Given the description of an element on the screen output the (x, y) to click on. 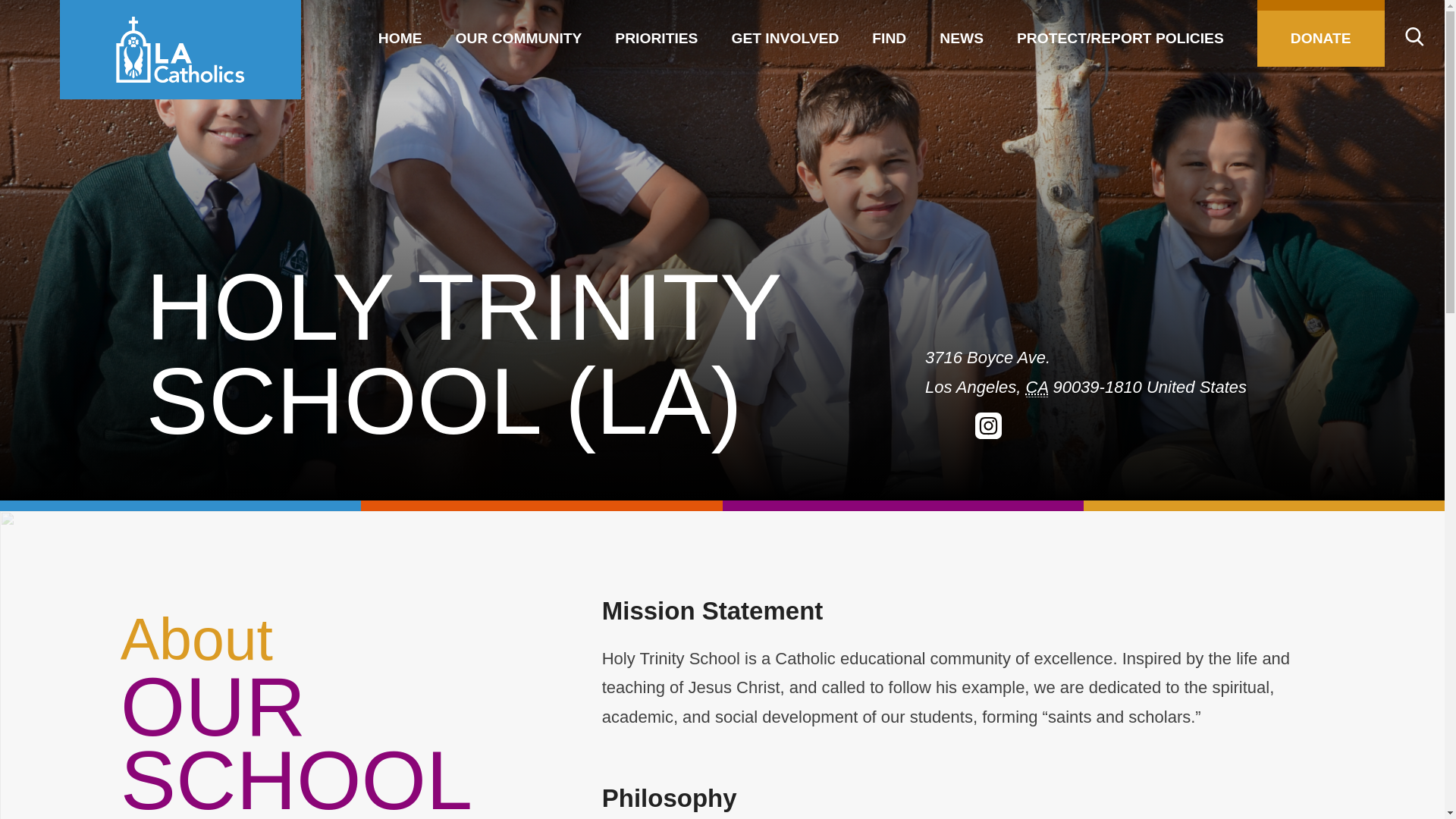
Catholic LA (180, 49)
HOME (400, 33)
California (1037, 387)
OUR COMMUNITY (518, 33)
